Given the description of an element on the screen output the (x, y) to click on. 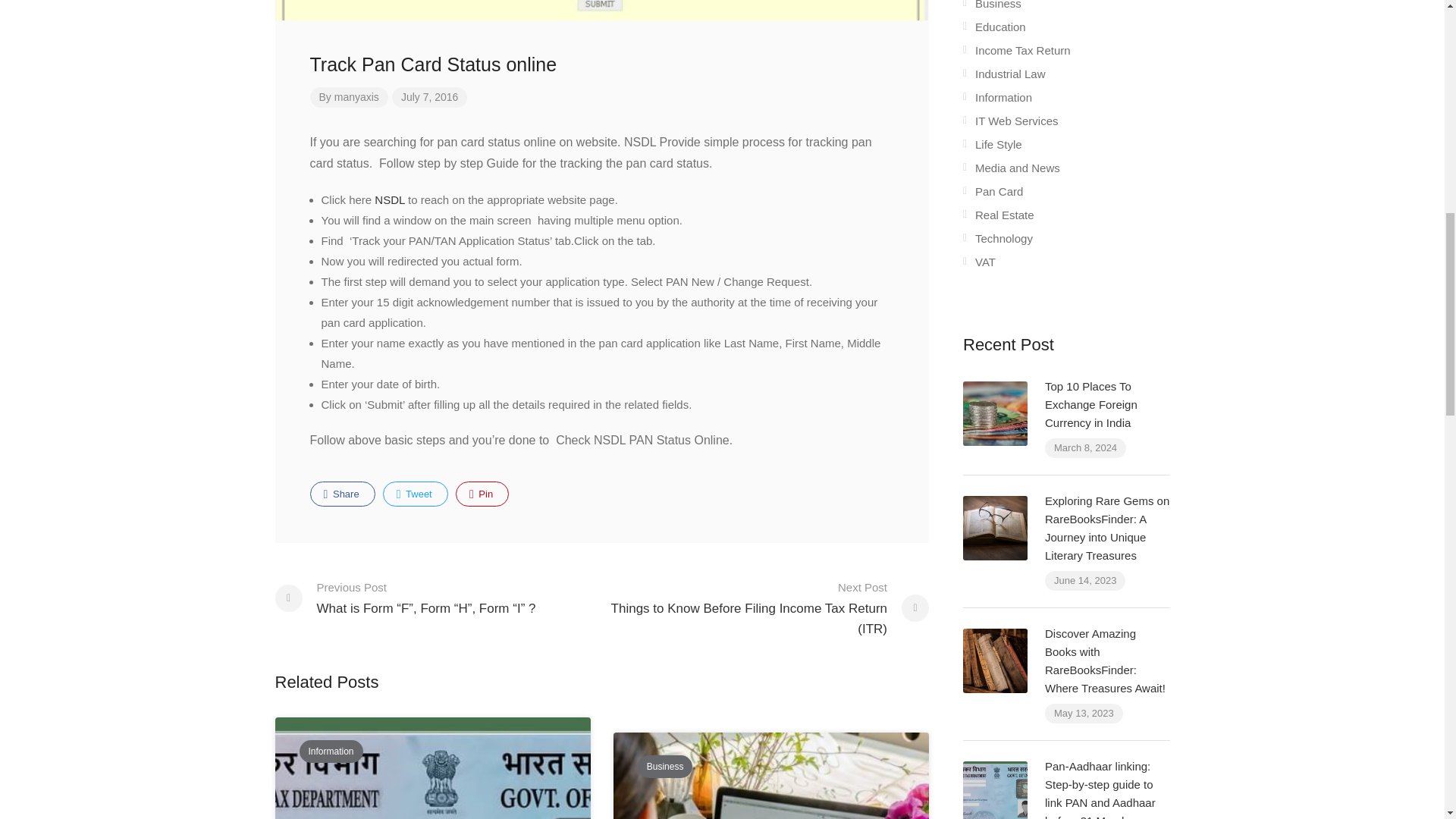
NSDL (389, 199)
Pin (481, 493)
Share (341, 493)
Track Pan Card Status online (600, 63)
Tweet (415, 493)
manyaxis (356, 96)
Twitter (415, 493)
